Given the description of an element on the screen output the (x, y) to click on. 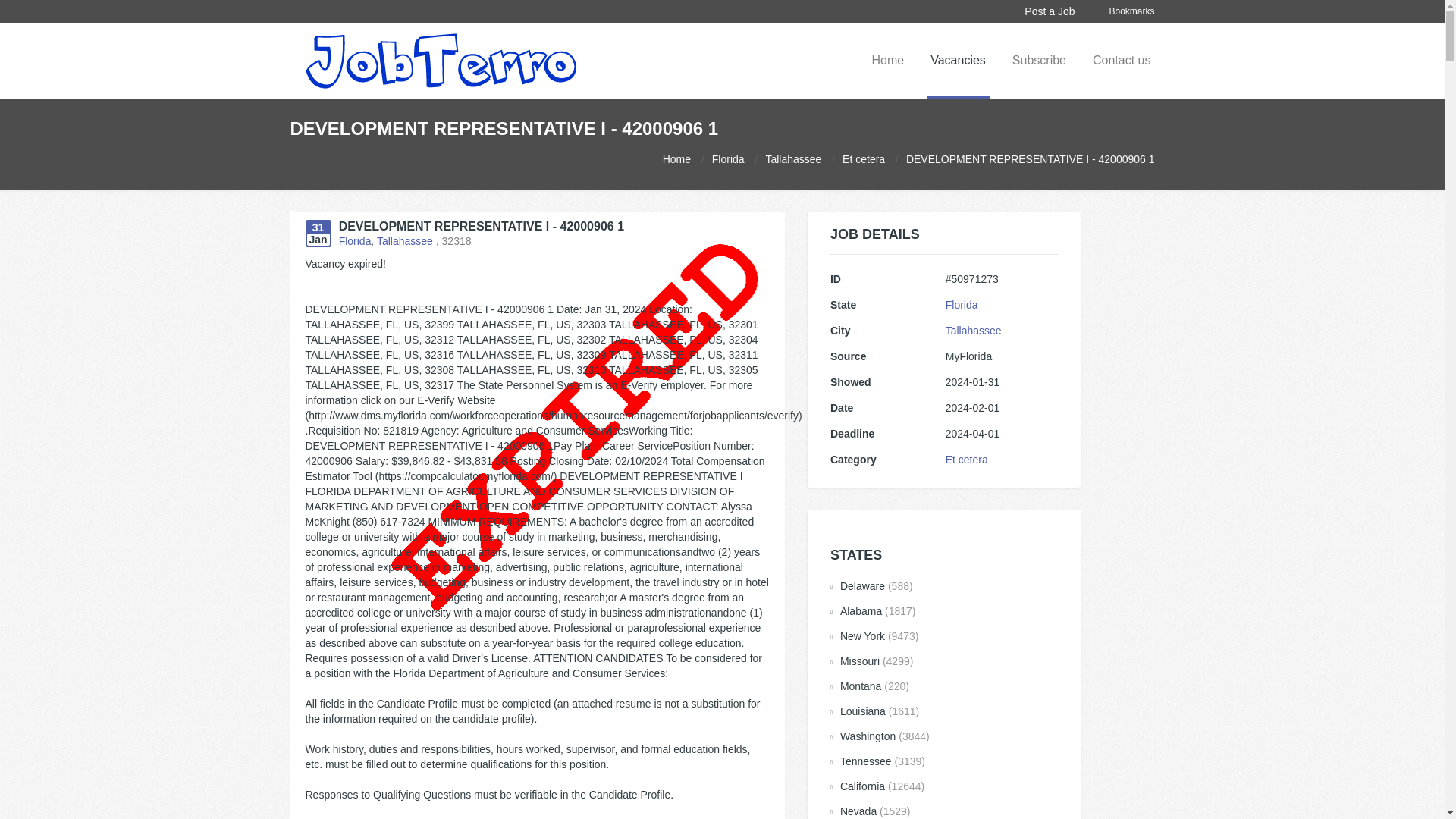
Florida jobs (727, 159)
Et cetera (966, 459)
Tallahassee (793, 159)
Job Terro - jobTerro.com (439, 60)
Tallahassee (404, 241)
Et cetera (864, 159)
Bookmarks (1131, 11)
Tallahassee (972, 330)
Florida (727, 159)
Florida (355, 241)
